Given the description of an element on the screen output the (x, y) to click on. 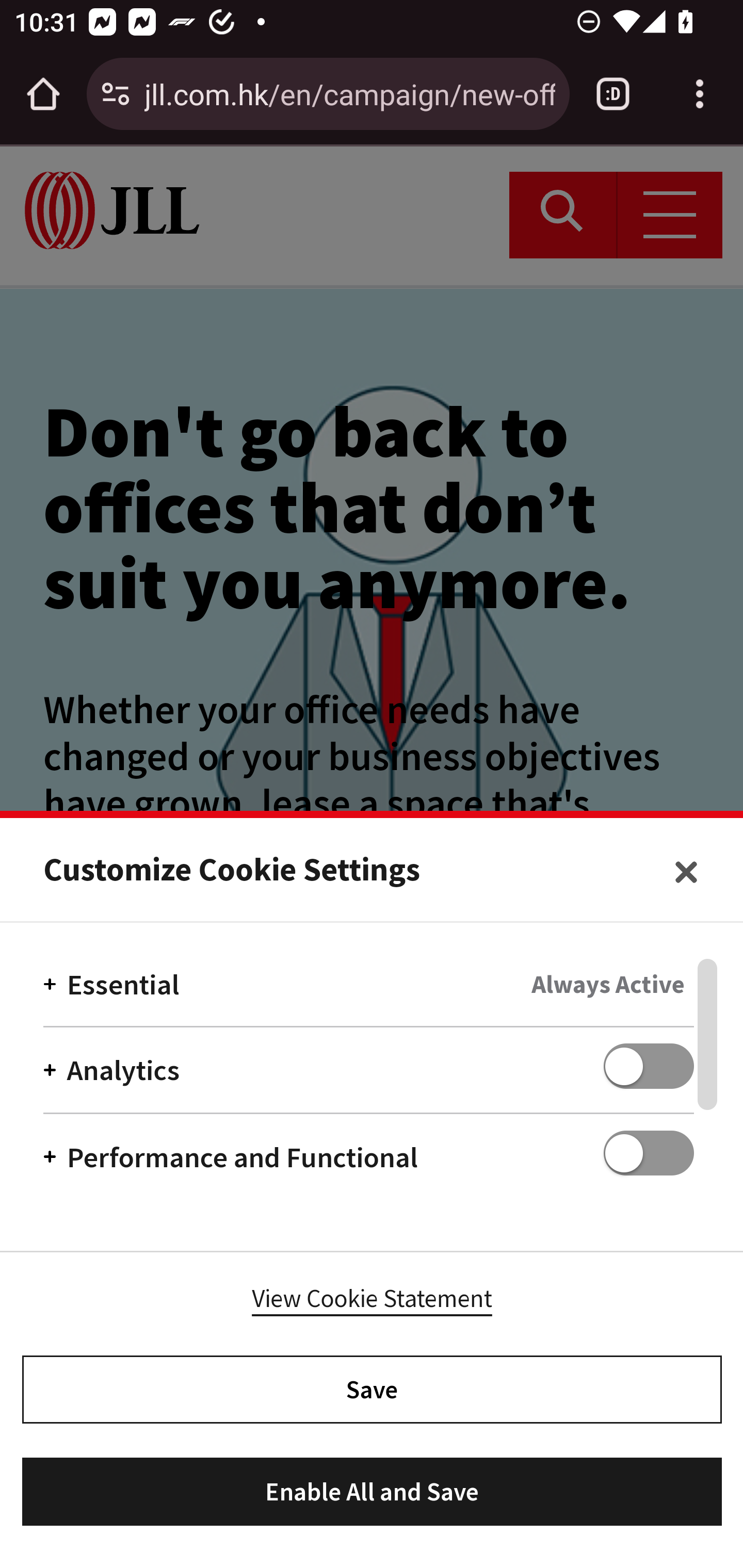
Open the home page (43, 93)
Connection is secure (115, 93)
Switch or close tabs (612, 93)
Customize and control Google Chrome (699, 93)
JLL Hong Kong (112, 209)
search (562, 214)
Properties (372, 881)
Close (686, 872)
Essential (368, 992)
Analytics (368, 1069)
Performance and Functional (368, 1147)
Save (371, 1388)
Enable All and Save (371, 1491)
